Given the description of an element on the screen output the (x, y) to click on. 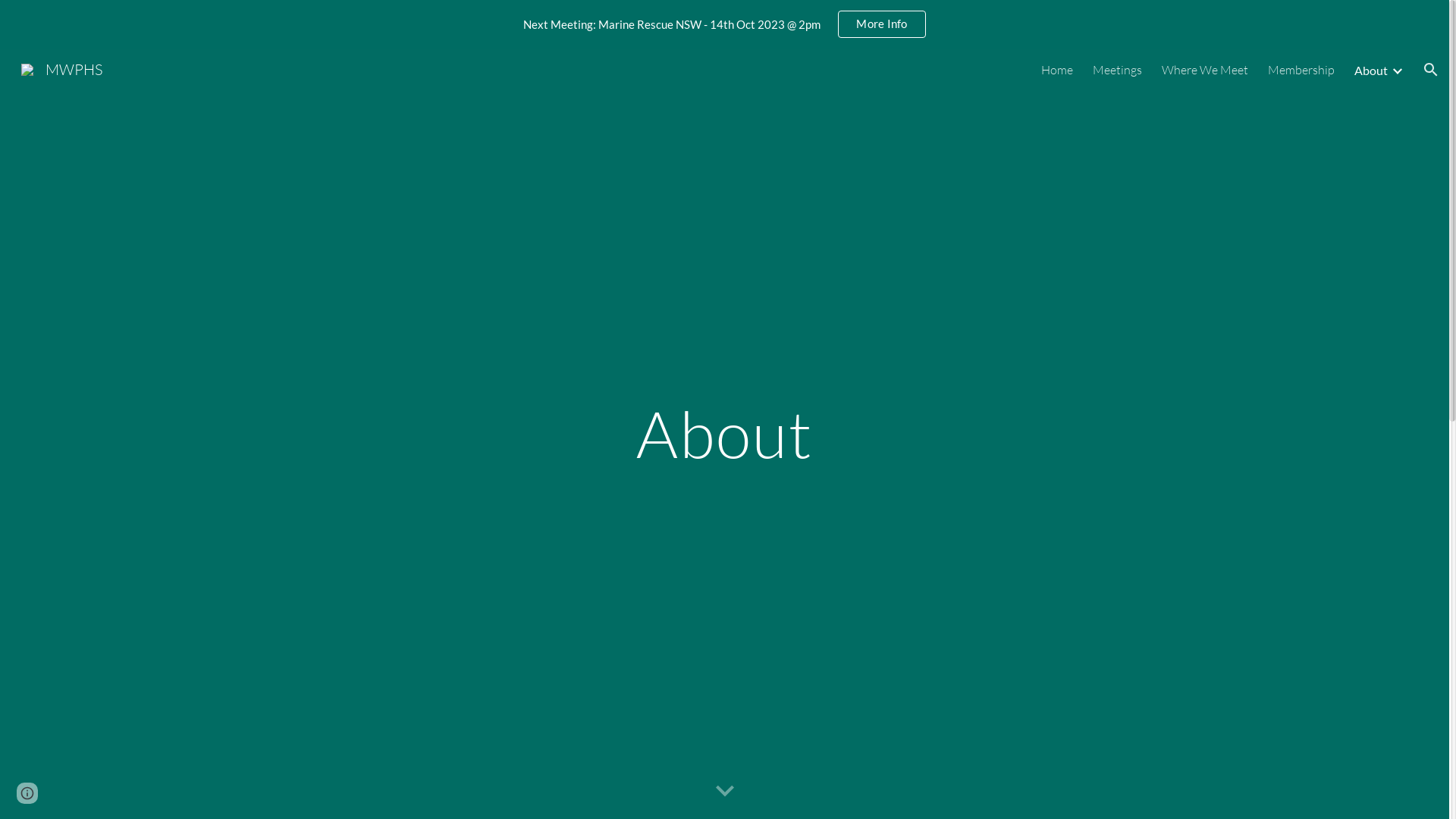
About Element type: text (1370, 69)
Expand/Collapse Element type: hover (1396, 69)
Where We Meet Element type: text (1204, 69)
More Info Element type: text (881, 24)
Membership Element type: text (1300, 69)
Home Element type: text (1057, 69)
Meetings Element type: text (1117, 69)
MWPHS Element type: text (61, 67)
